Given the description of an element on the screen output the (x, y) to click on. 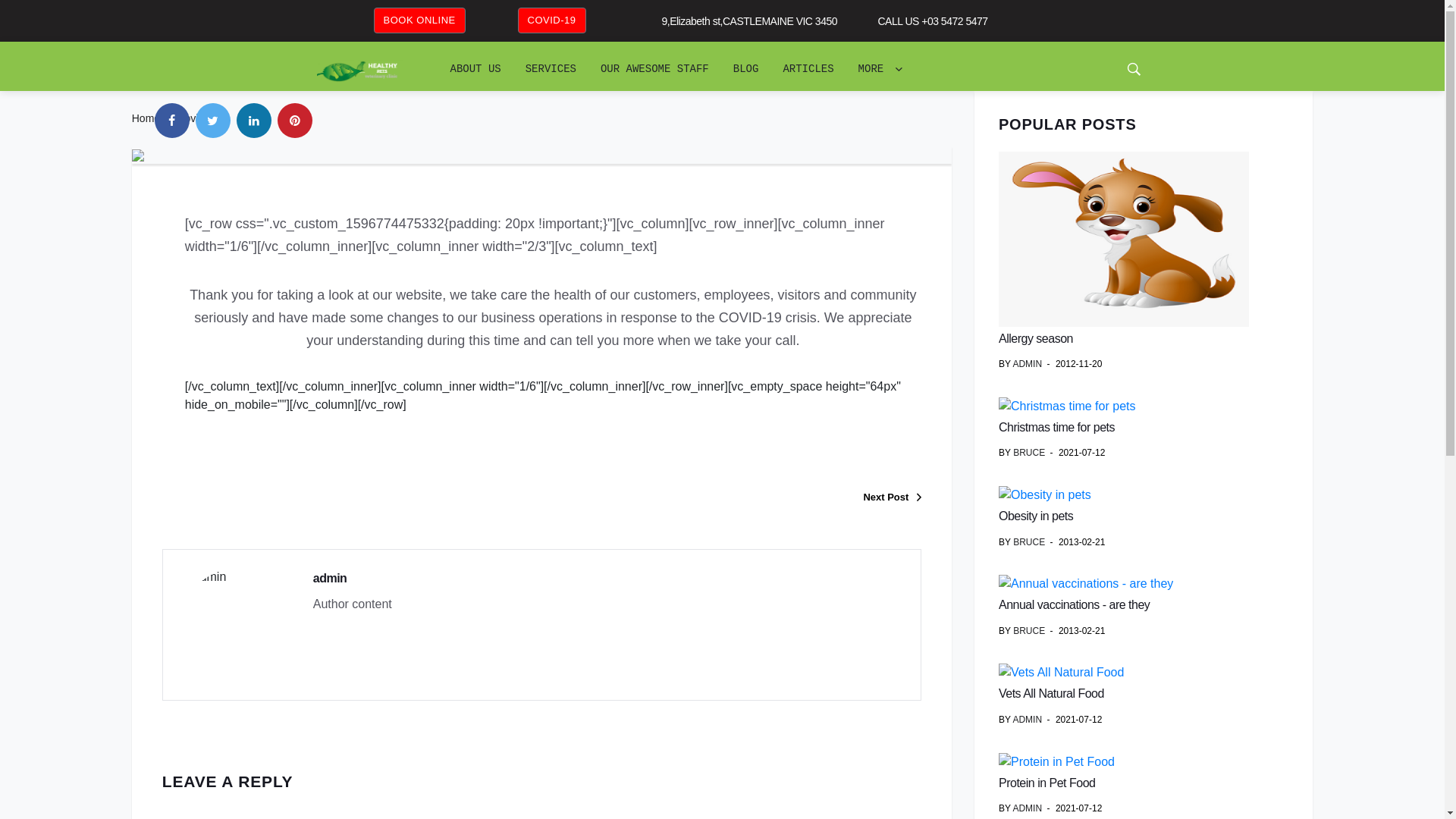
BLOG Element type: text (746, 68)
BRUCE Element type: text (1028, 452)
ARTICLES Element type: text (807, 68)
Next Post Element type: text (731, 498)
ADMIN Element type: text (1026, 363)
ADMIN Element type: text (1026, 719)
Annual vaccinations - are they Element type: text (1073, 604)
Vets All Natural Food Element type: text (1051, 693)
Linked in Element type: hover (253, 120)
BRUCE Element type: text (1028, 630)
OUR AWESOME STAFF Element type: text (654, 68)
ABOUT US Element type: text (475, 68)
ADMIN Element type: text (1026, 808)
twitter Element type: hover (212, 120)
BOOK ONLINE Element type: text (418, 20)
pinterest Element type: hover (294, 120)
MORE Element type: text (880, 68)
COVID-19 Element type: text (551, 20)
COVID-19 Element type: text (551, 19)
admin Element type: text (330, 577)
BOOK ONLINE Element type: text (419, 19)
SERVICES Element type: text (550, 68)
Allergy season Element type: text (1035, 338)
Protein in Pet Food Element type: text (1046, 782)
facebook Element type: hover (171, 120)
Obesity in pets Element type: text (1035, 515)
Home Element type: text (145, 118)
BRUCE Element type: text (1028, 541)
Christmas time for pets Element type: text (1056, 426)
